Given the description of an element on the screen output the (x, y) to click on. 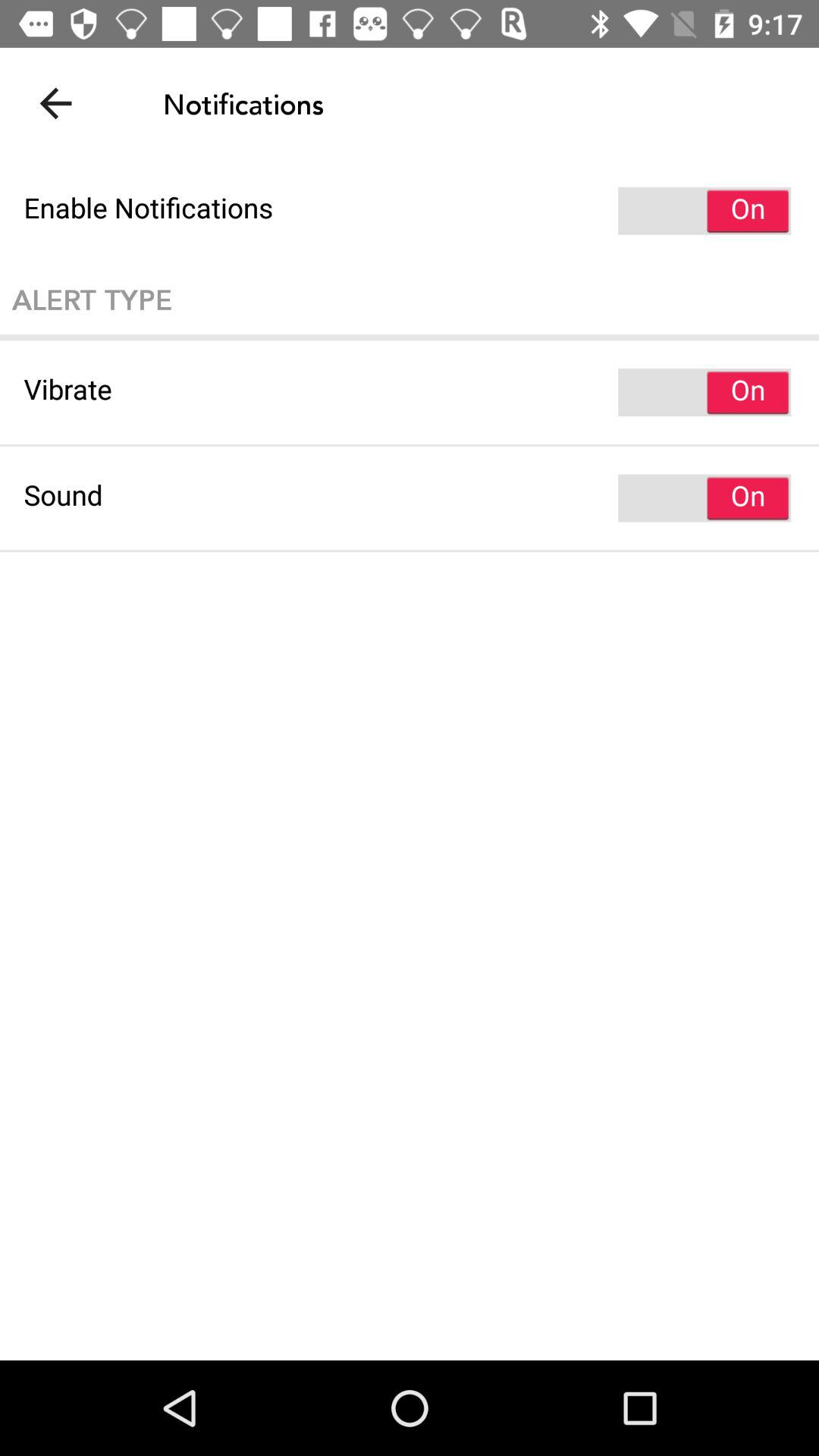
select the sound item (409, 498)
